Given the description of an element on the screen output the (x, y) to click on. 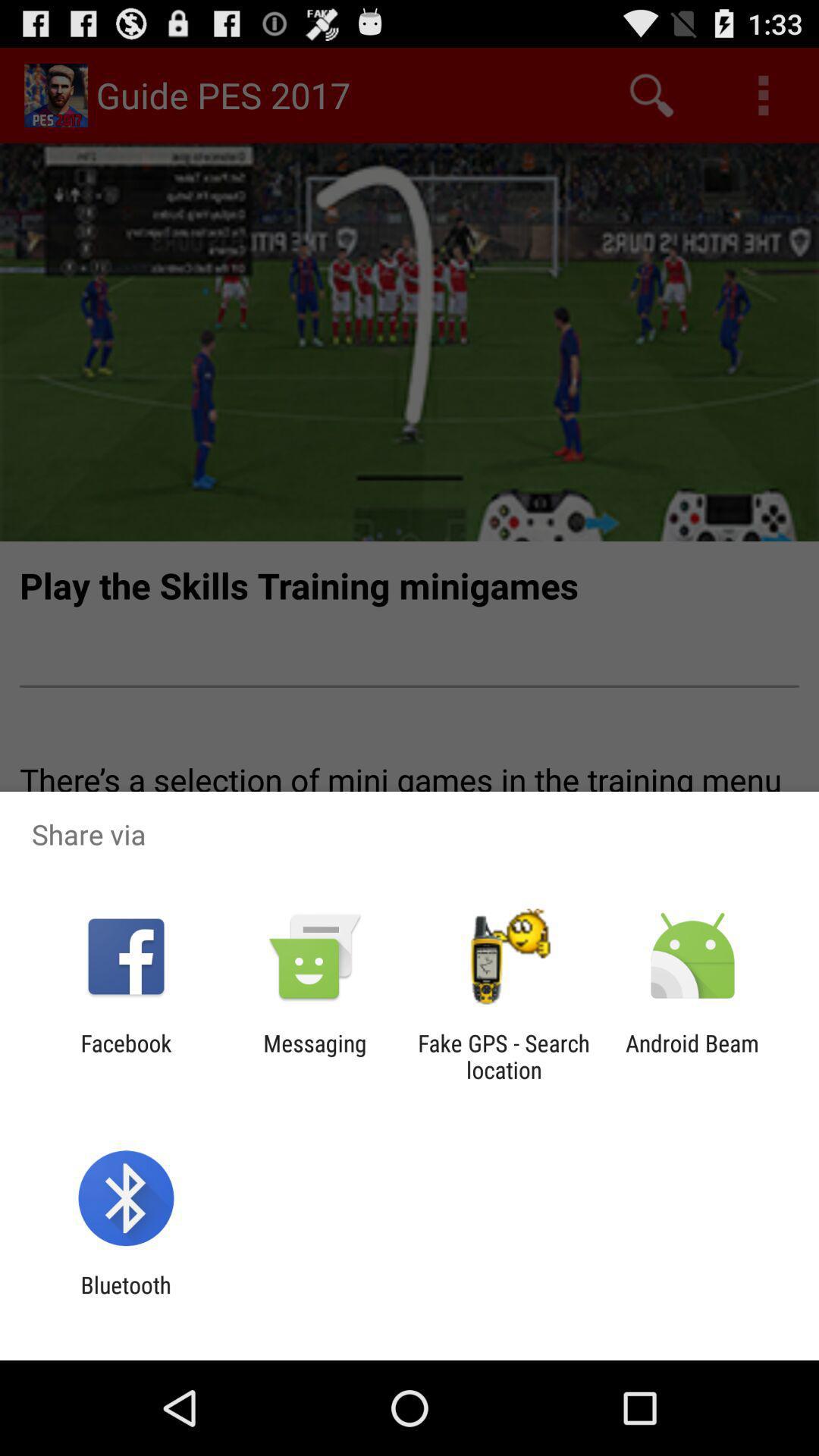
press fake gps search (503, 1056)
